Given the description of an element on the screen output the (x, y) to click on. 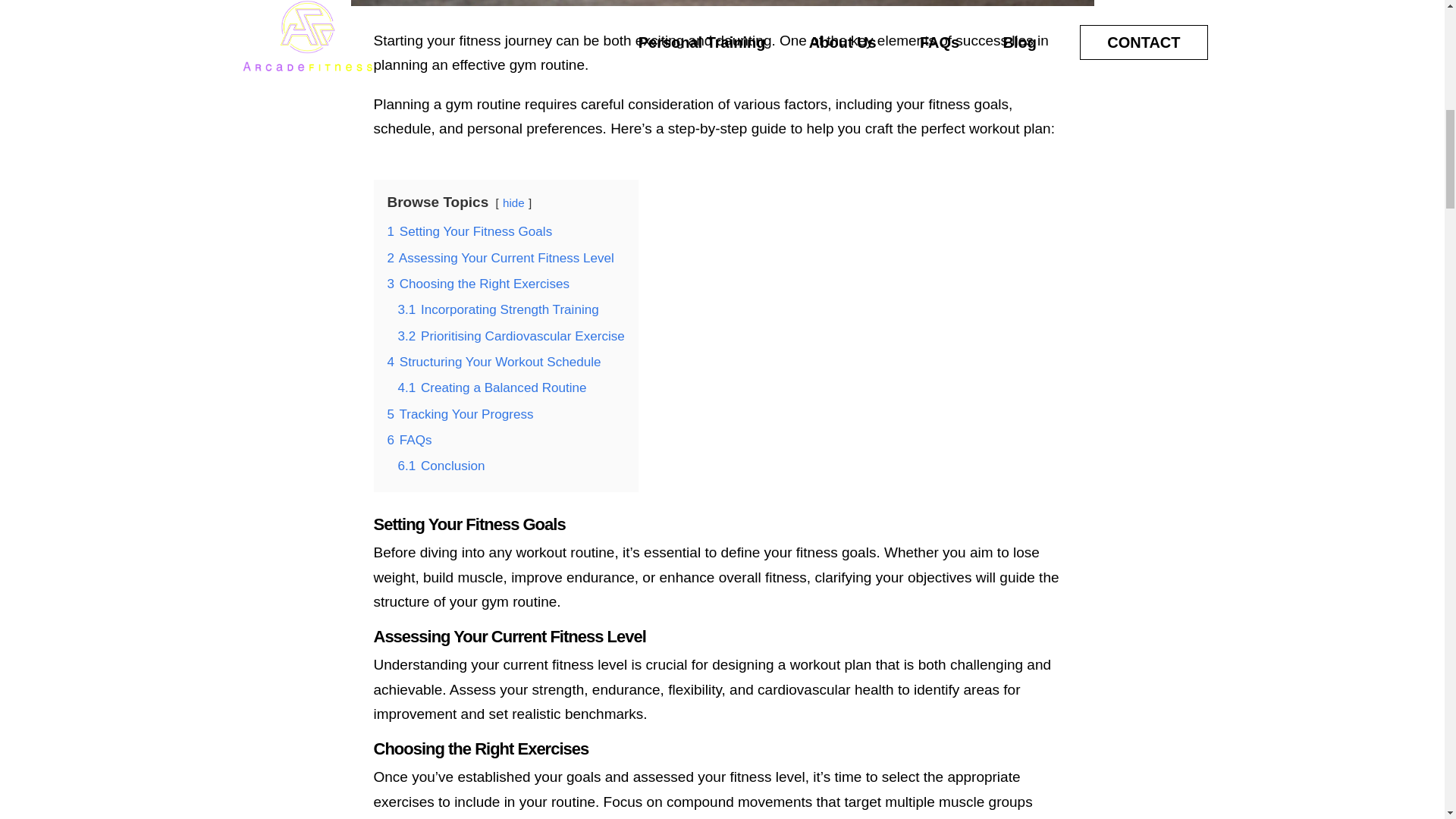
4.1 Creating a Balanced Routine (491, 387)
6 FAQs (408, 440)
How do I plan a gym routine? (721, 4)
4 Structuring Your Workout Schedule (493, 361)
3.1 Incorporating Strength Training (497, 309)
2 Assessing Your Current Fitness Level (499, 257)
hide (513, 202)
6.1 Conclusion (440, 465)
3 Choosing the Right Exercises (478, 283)
3.2 Prioritising Cardiovascular Exercise (510, 336)
